Given the description of an element on the screen output the (x, y) to click on. 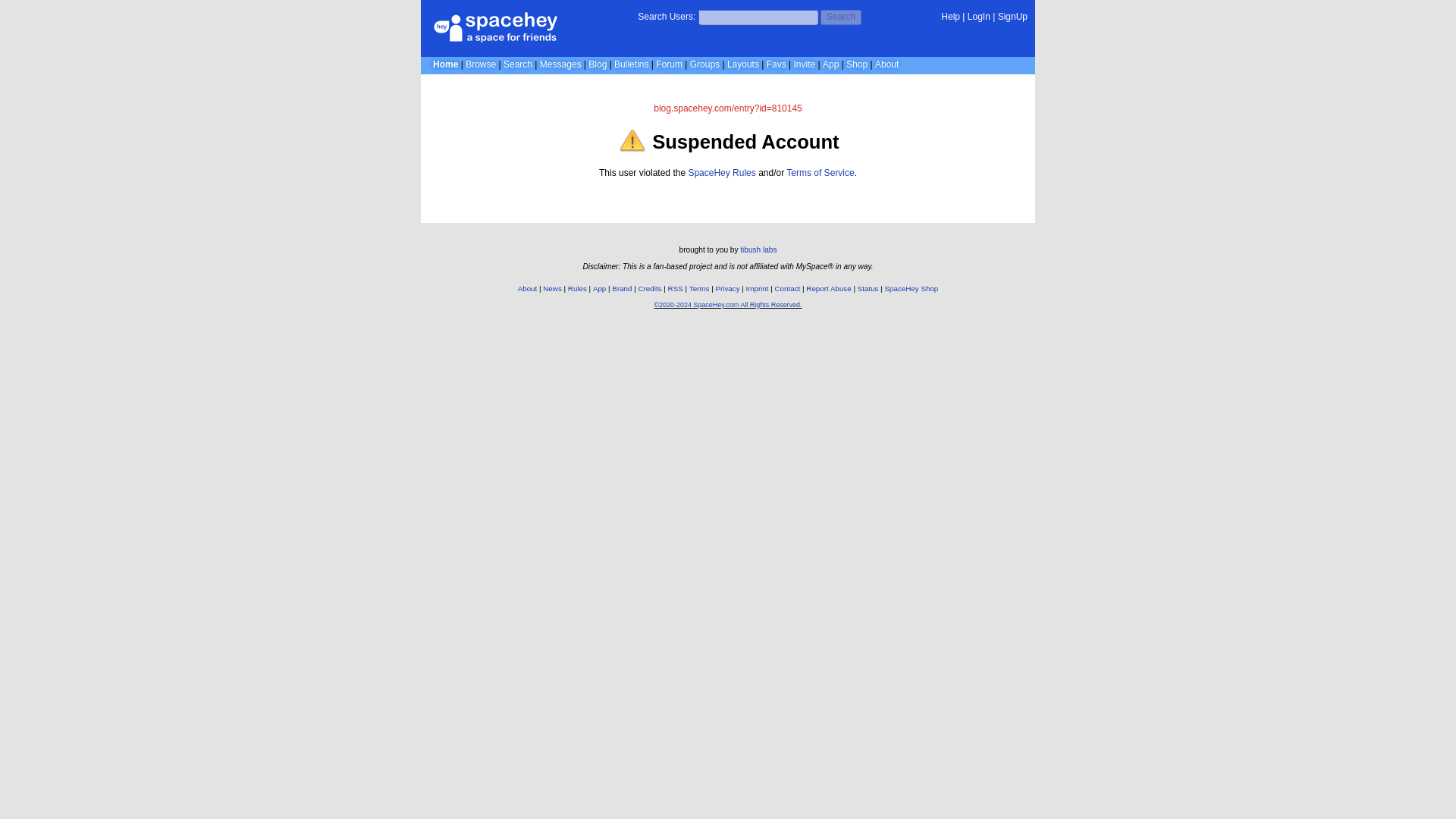
LogIn (979, 16)
About (527, 288)
Terms (699, 288)
RSS (675, 288)
Rules (576, 288)
Report Abuse (828, 288)
Favs (776, 63)
SpaceHey Shop (912, 288)
Search (841, 17)
Contact (787, 288)
